Given the description of an element on the screen output the (x, y) to click on. 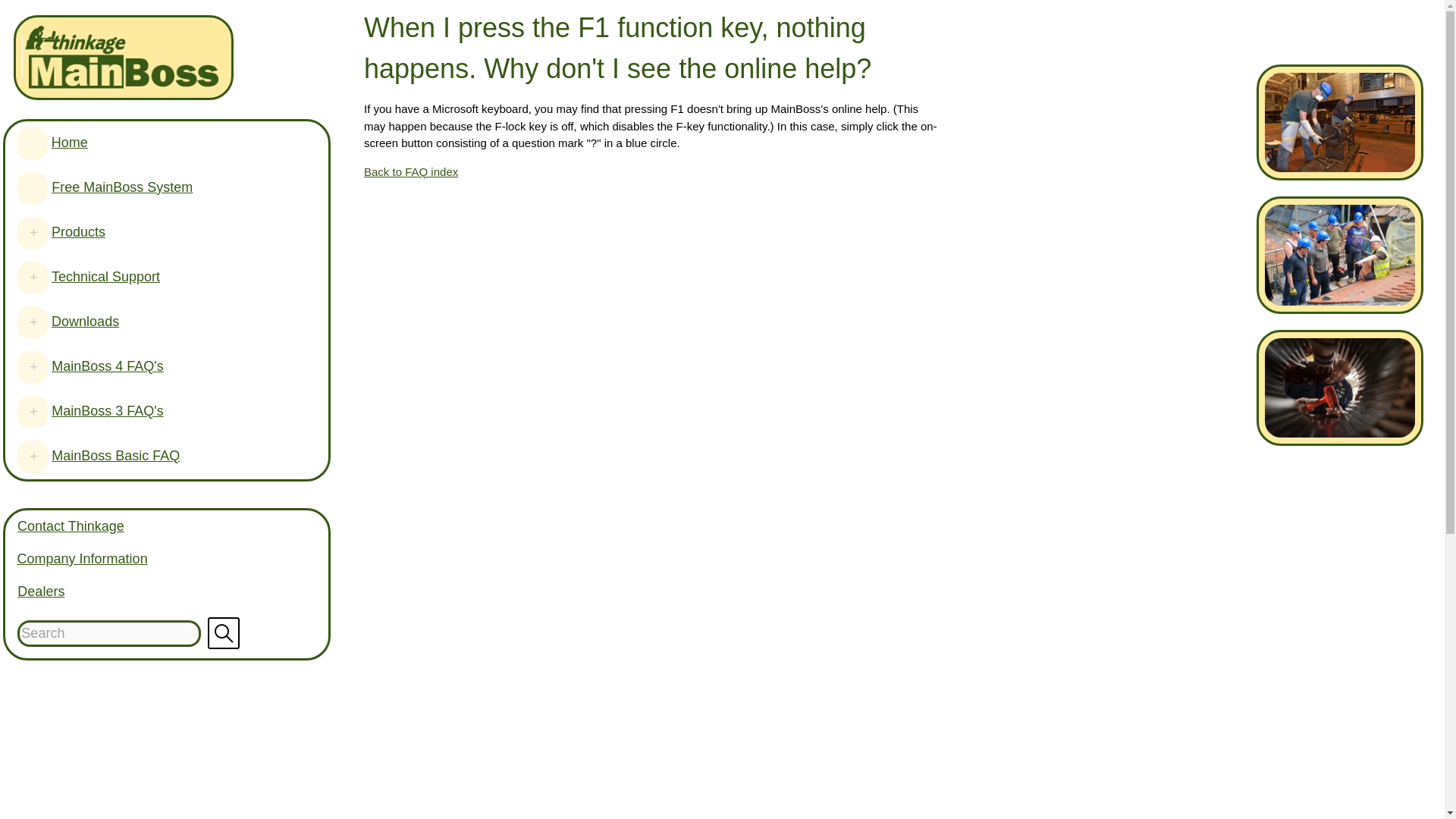
Free MainBoss System (77, 186)
Technical Support (105, 276)
Home (3, 142)
Products (55, 231)
